Given the description of an element on the screen output the (x, y) to click on. 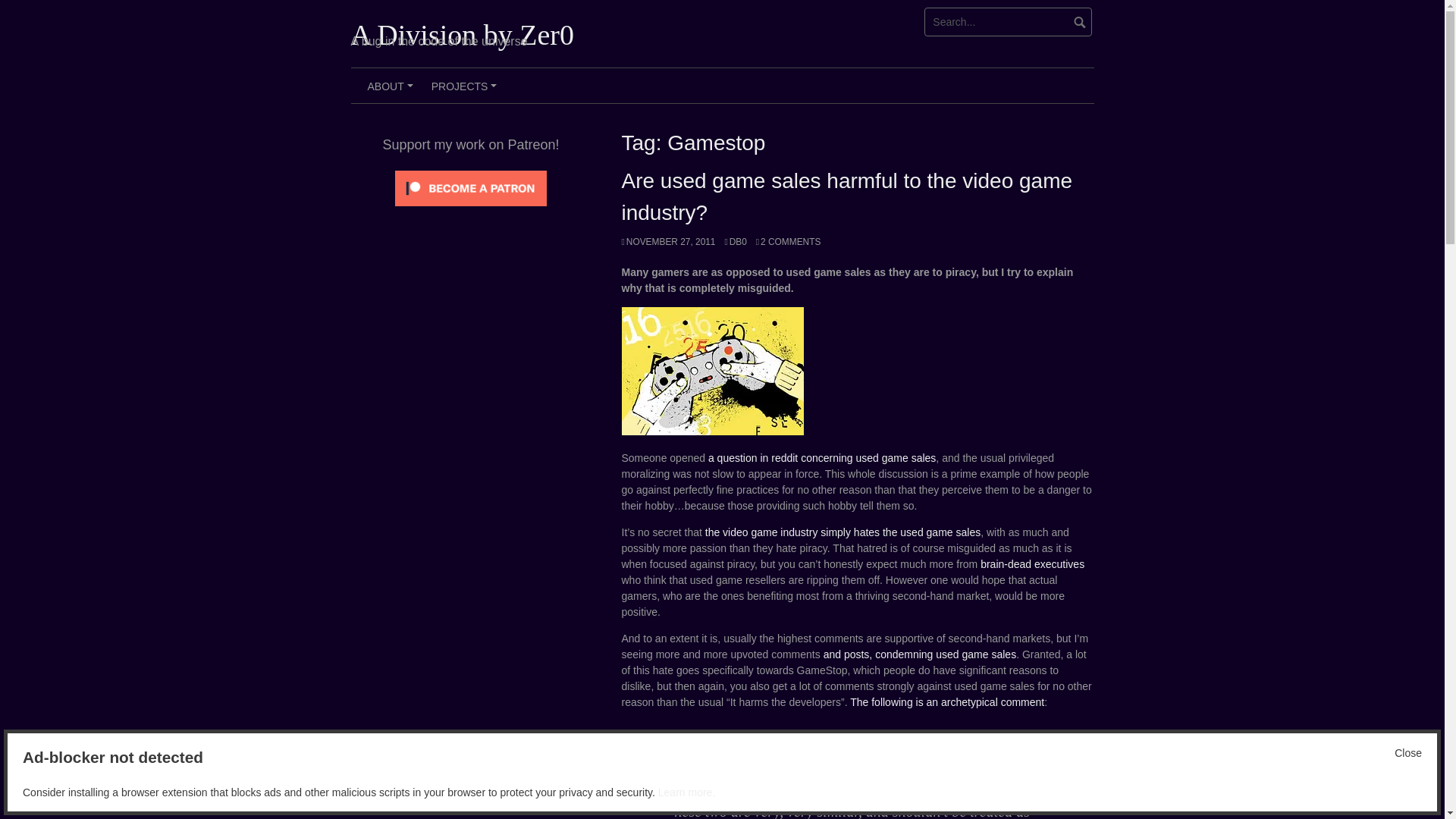
A Division by Zer0 (461, 34)
Learn more. (686, 792)
2 COMMENTS (788, 241)
Are used game sales harmful to the video game industry? (847, 196)
brain-dead executives (1031, 563)
Search for: (1008, 21)
DB0 (734, 241)
NOVEMBER 27, 2011 (668, 241)
a question in reddit concerning used game sales (821, 458)
the video game industry simply hates the used game sales (841, 532)
The following is an archetypical comment (946, 702)
and posts, condemning used game sales (920, 654)
